Given the description of an element on the screen output the (x, y) to click on. 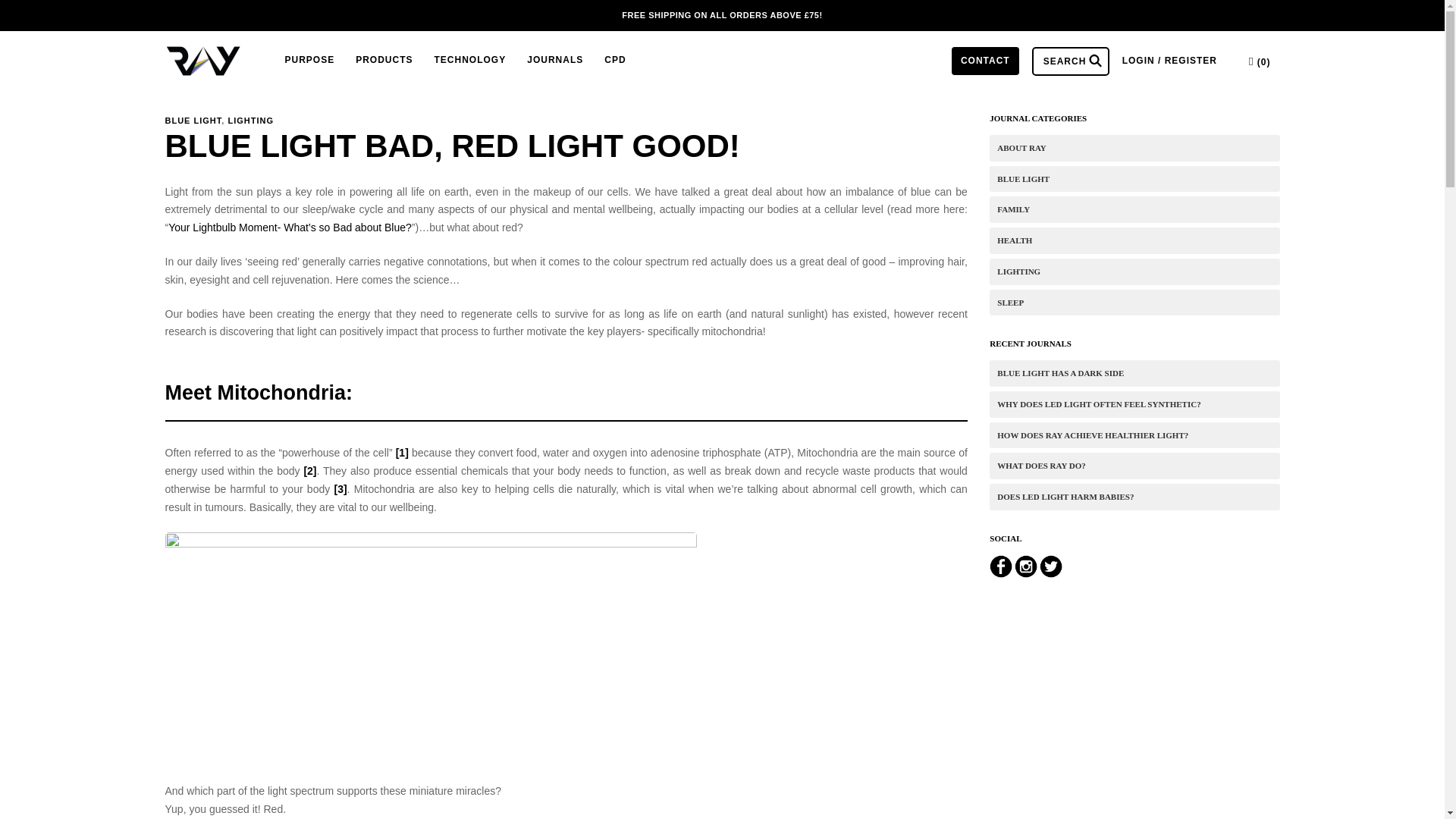
Login (1169, 60)
LIGHTING (250, 120)
SLEEP (1134, 302)
BLUE LIGHT HAS A DARK SIDE (1134, 372)
PURPOSE (309, 60)
ABOUT RAY (1134, 147)
TECHNOLOGY (469, 60)
LIGHTING (1134, 271)
BLUE LIGHT (193, 120)
CPD (615, 60)
JOURNALS (555, 60)
HEALTH (1134, 240)
FAMILY (1134, 209)
PRODUCTS (383, 60)
BLUE LIGHT (1134, 178)
